Given the description of an element on the screen output the (x, y) to click on. 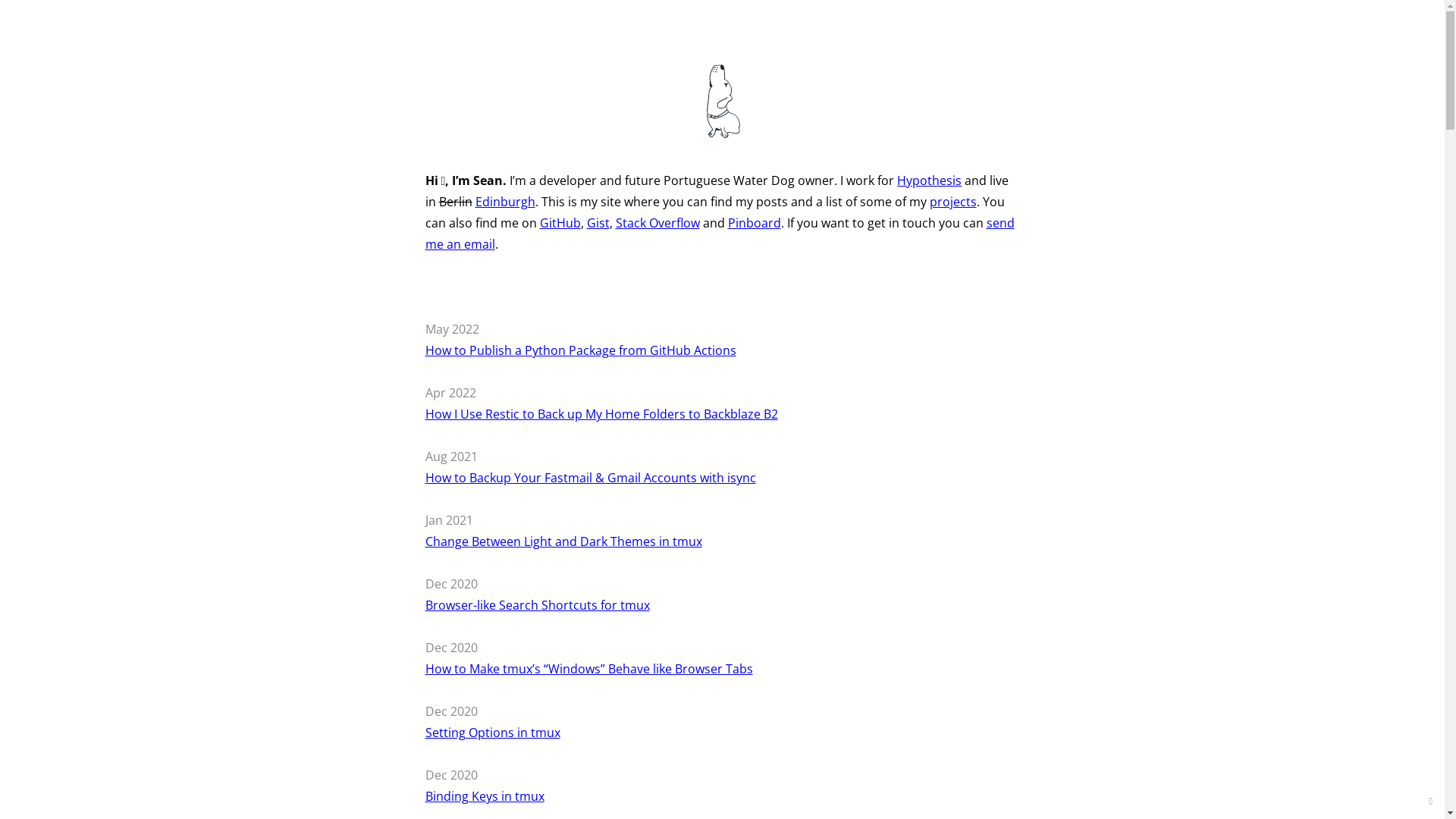
send me an email Element type: text (718, 233)
Binding Keys in tmux Element type: text (483, 795)
GitHub Element type: text (559, 222)
Browser-like Search Shortcuts for tmux Element type: text (536, 604)
How I Use Restic to Back up My Home Folders to Backblaze B2 Element type: text (600, 413)
Gist Element type: text (597, 222)
How to Backup Your Fastmail & Gmail Accounts with isync Element type: text (589, 477)
projects Element type: text (952, 201)
Stack Overflow Element type: text (657, 222)
Hypothesis Element type: text (929, 180)
Setting Options in tmux Element type: text (491, 732)
Edinburgh Element type: text (504, 201)
How to Publish a Python Package from GitHub Actions Element type: text (579, 350)
Change Between Light and Dark Themes in tmux Element type: text (562, 541)
Pinboard Element type: text (754, 222)
